Given the description of an element on the screen output the (x, y) to click on. 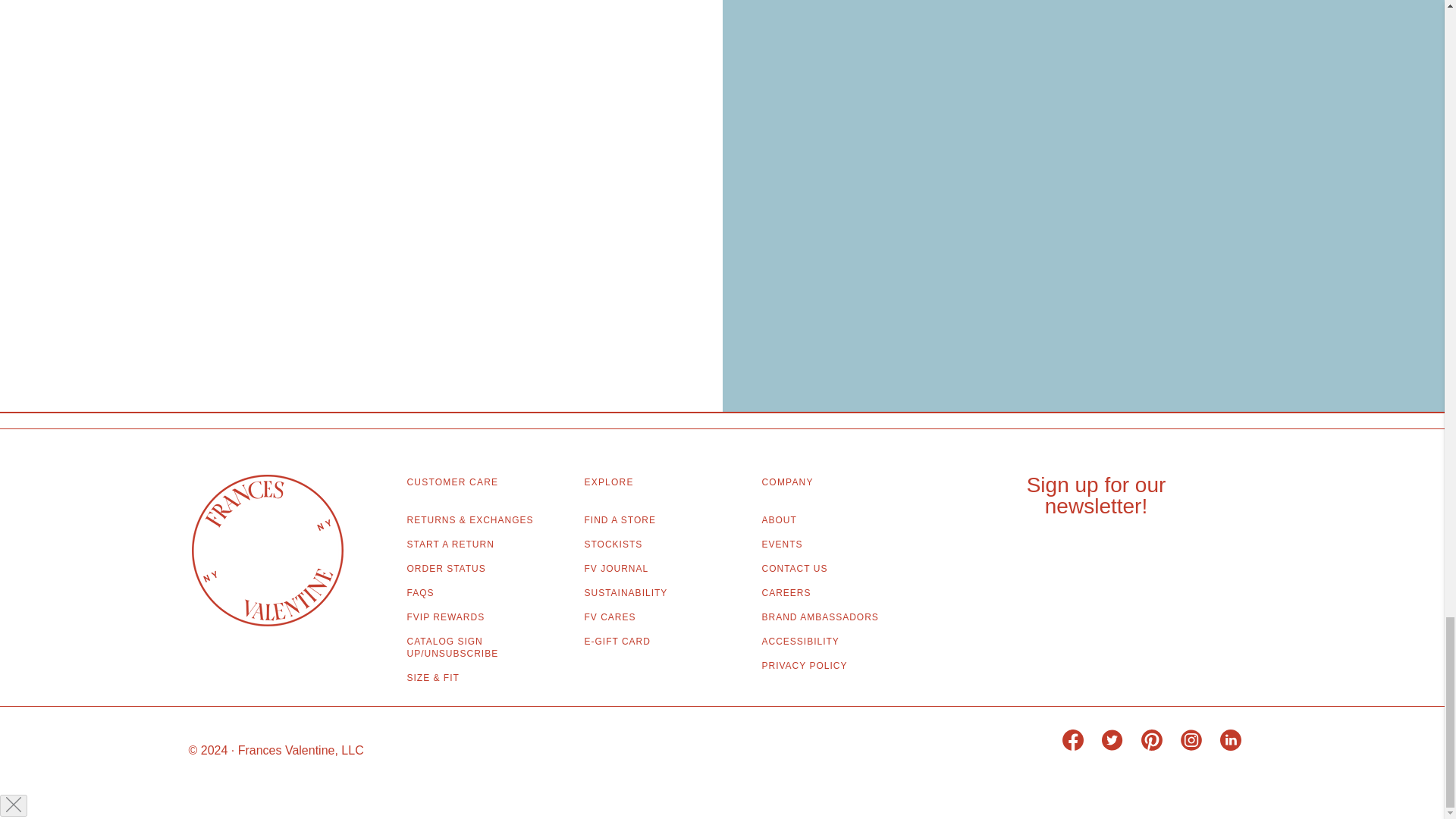
Frances Valentine on Facebook (1077, 746)
Frances Valentine on Instagram (1195, 746)
Frances Valentine on Pinterest (1156, 746)
Frances Valentine on LinkedIn, (1236, 746)
Frances Valentine on Twitter (1117, 746)
